Given the description of an element on the screen output the (x, y) to click on. 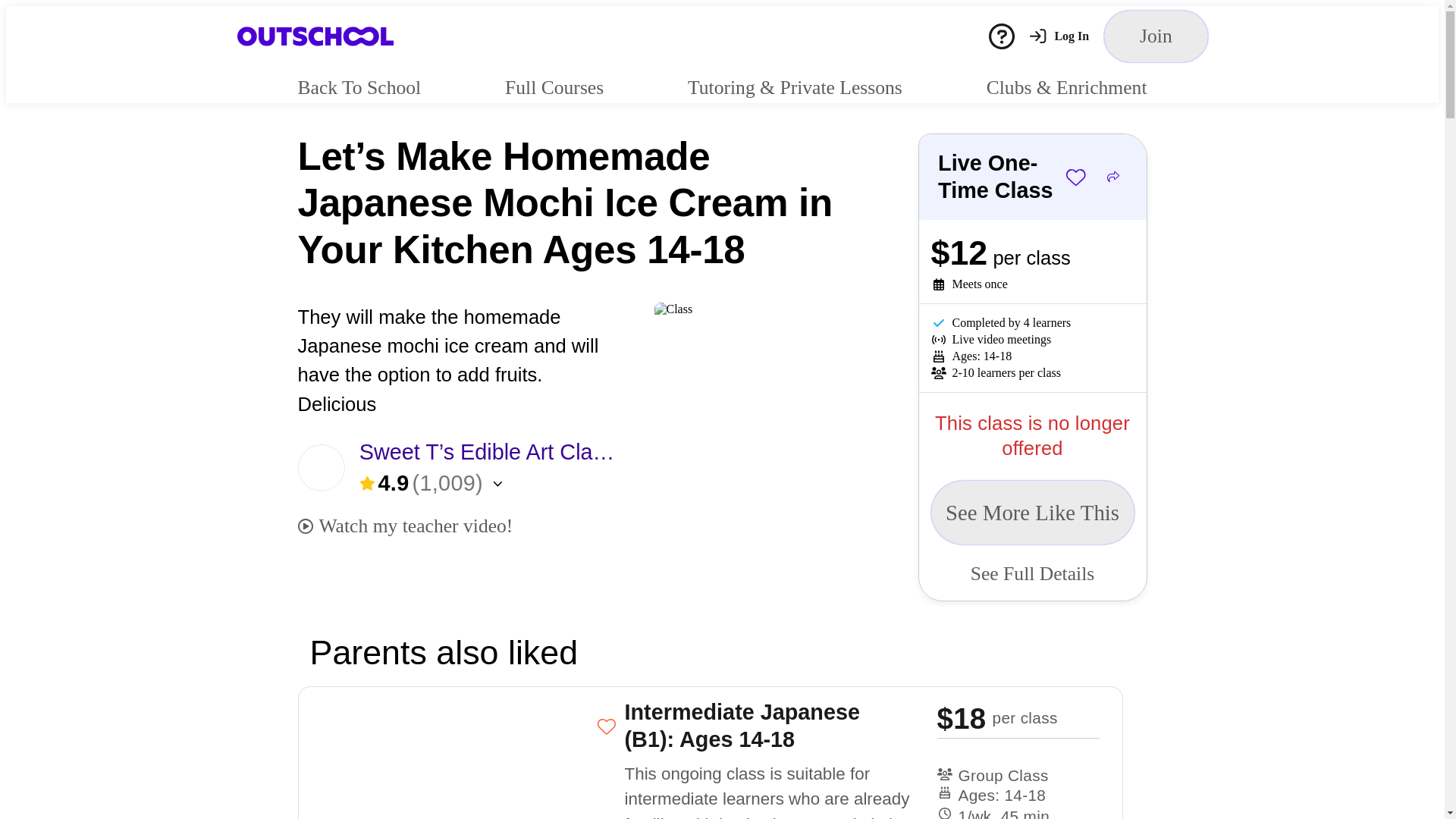
See More Like This (1032, 512)
Full Courses (554, 86)
Log In (1059, 35)
Watch my teacher video! (404, 526)
See Full Details (1032, 573)
Back To School (358, 86)
Join (1155, 36)
